Given the description of an element on the screen output the (x, y) to click on. 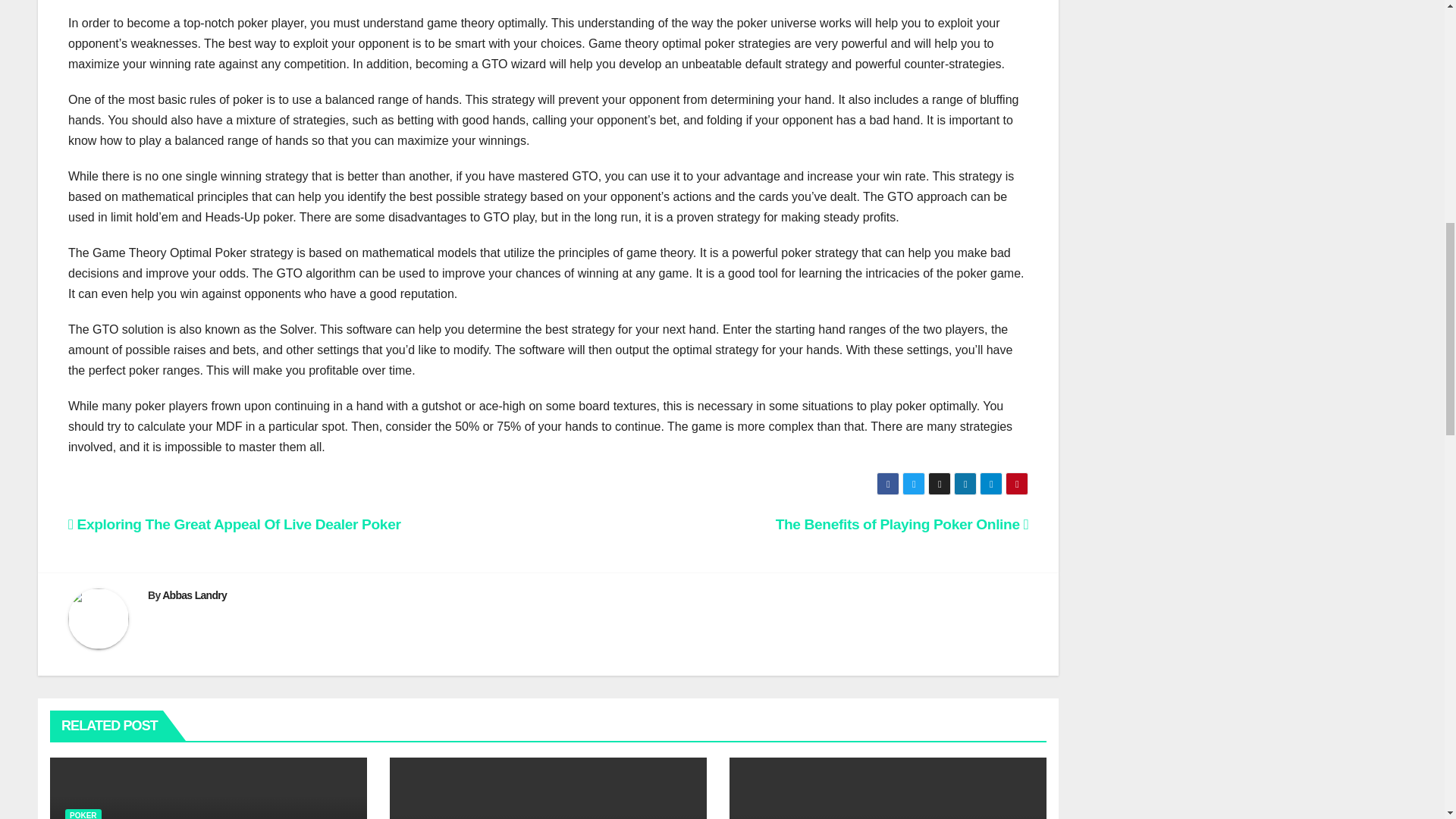
POKER (83, 814)
Abbas Landry (194, 594)
Exploring The Great Appeal Of Live Dealer Poker (234, 524)
The Benefits of Playing Poker Online (902, 524)
